Given the description of an element on the screen output the (x, y) to click on. 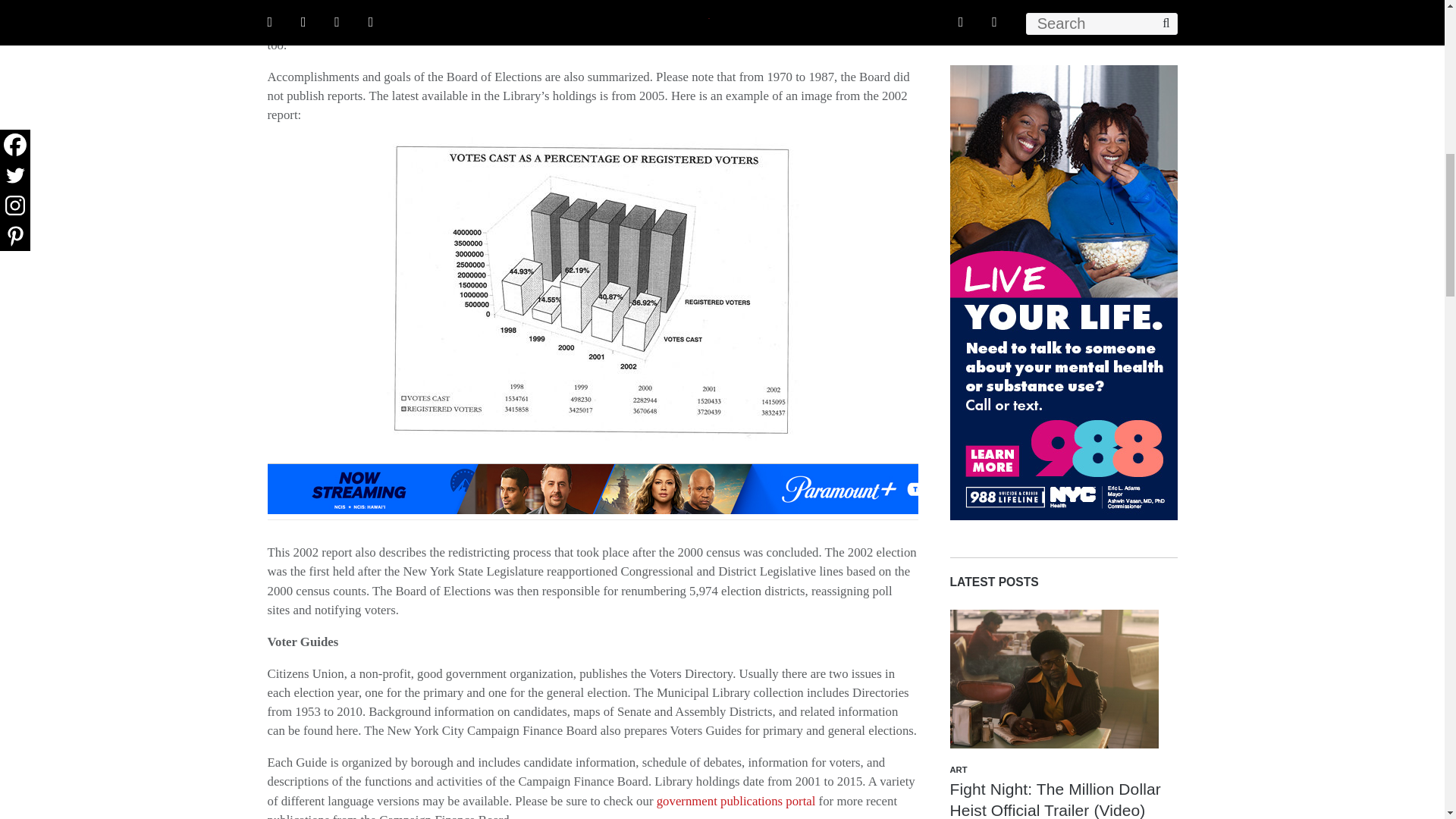
government publications portal (735, 800)
